Given the description of an element on the screen output the (x, y) to click on. 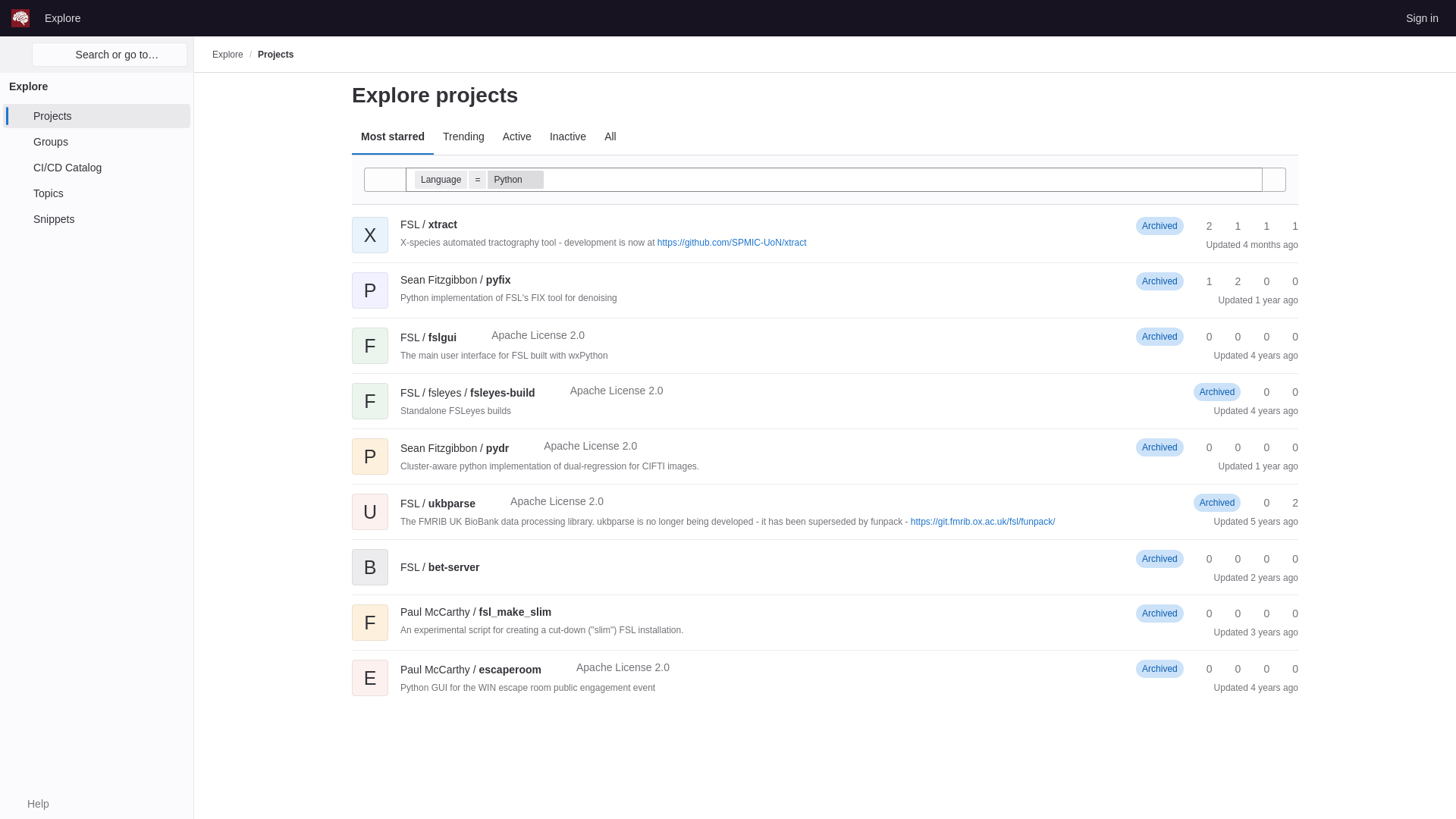
Explore (227, 54)
Most starred (392, 135)
Forks (1231, 281)
2 (1202, 226)
pyfix (455, 279)
Clear (1249, 179)
Topics (96, 192)
Homepage (20, 17)
Snippets (96, 218)
Issues (1288, 281)
Trending (463, 135)
Merge requests (1259, 226)
Explore (62, 17)
Inactive (567, 135)
Projects (275, 54)
